Given the description of an element on the screen output the (x, y) to click on. 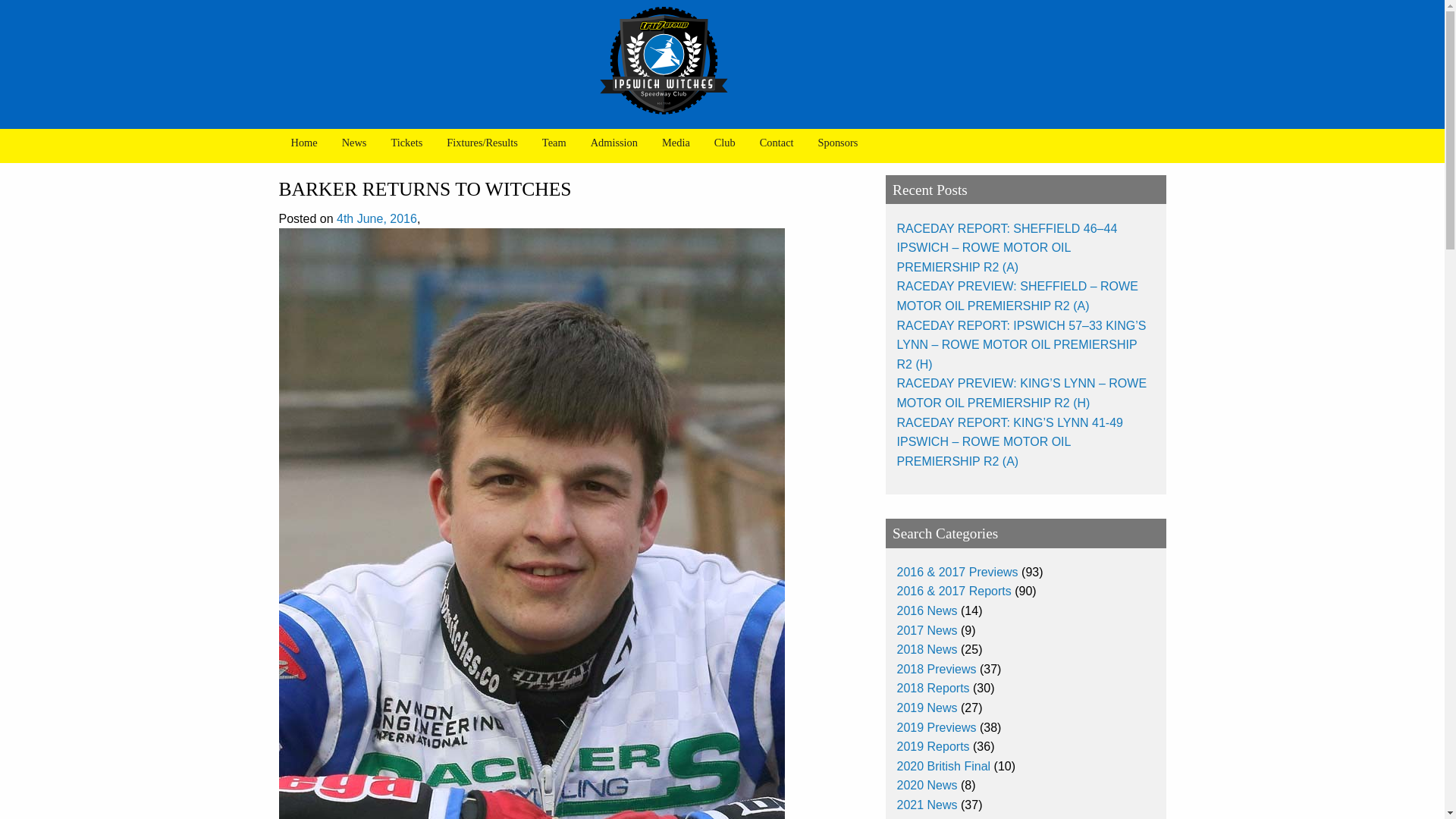
Media (675, 142)
Contact (777, 142)
Team (553, 142)
News (354, 142)
Home (304, 142)
Admission (613, 142)
Club (724, 142)
Tickets (405, 142)
Sponsors (838, 142)
